Given the description of an element on the screen output the (x, y) to click on. 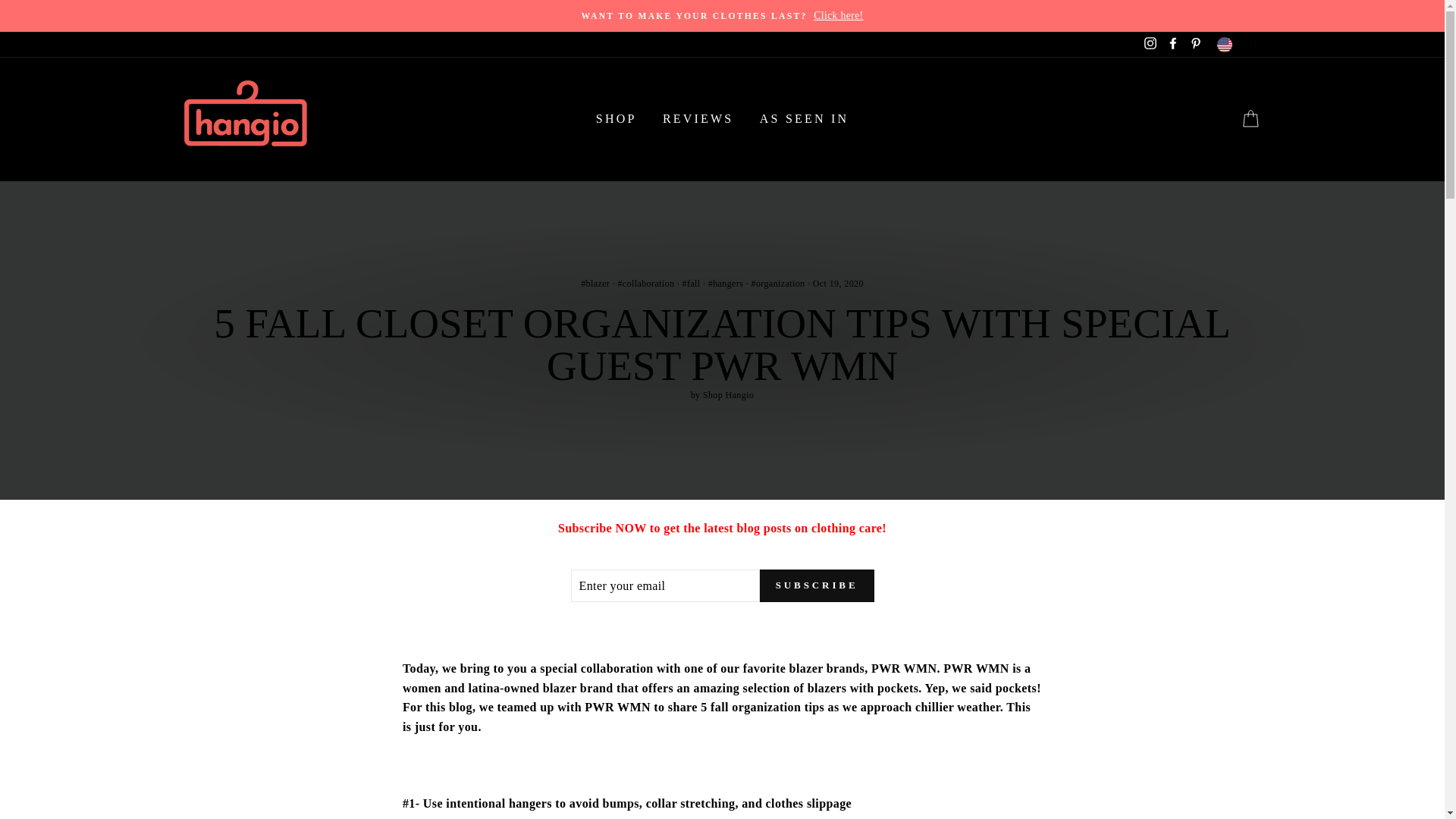
AS SEEN IN (804, 119)
SHOP (616, 119)
SUBSCRIBE (817, 584)
REVIEWS (697, 119)
WANT TO MAKE YOUR CLOTHES LAST? Click here! (722, 15)
USD (1237, 44)
CART (1249, 119)
